Given the description of an element on the screen output the (x, y) to click on. 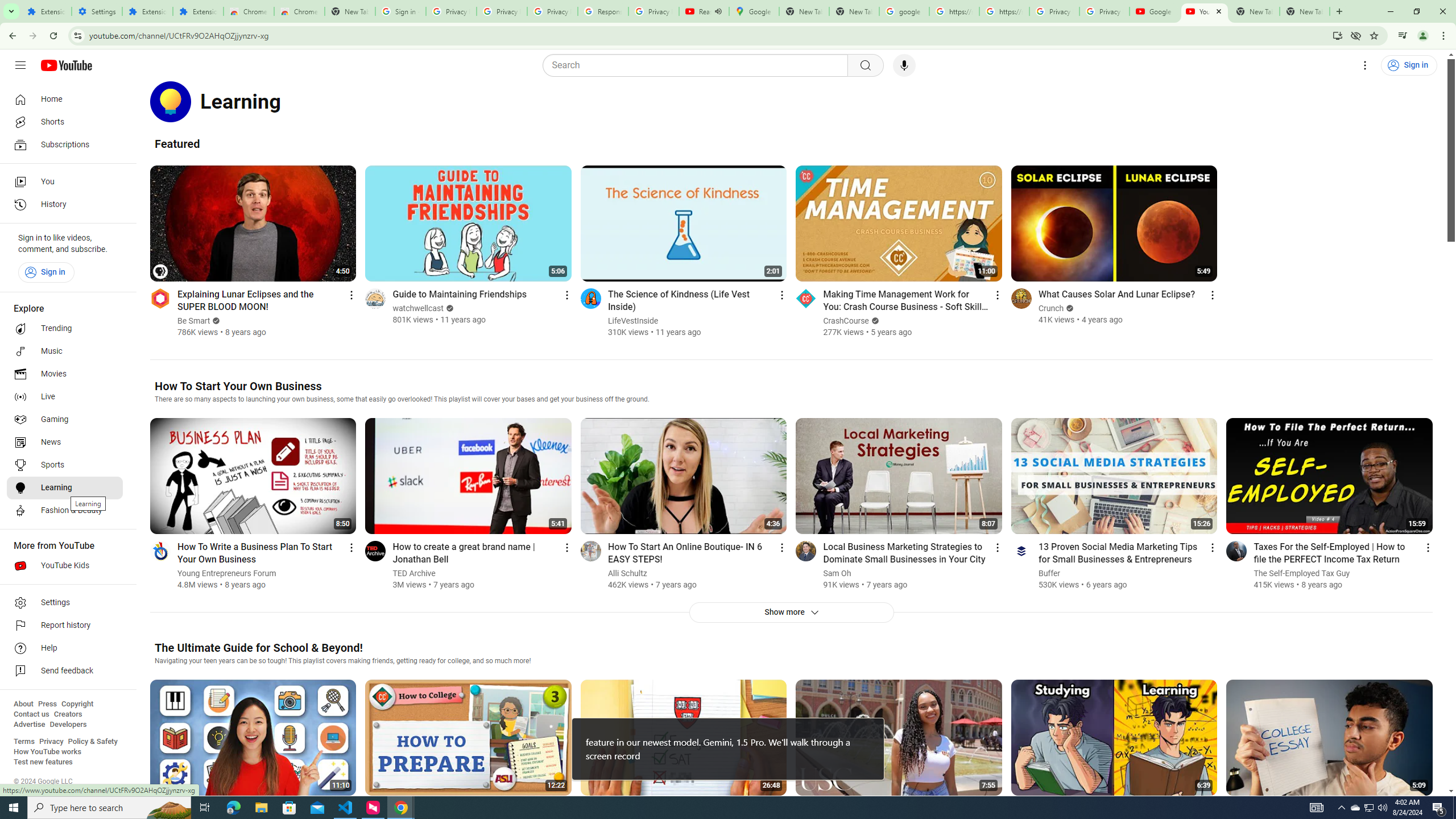
Terms (23, 741)
Developers (68, 724)
Be Smart (194, 320)
Buffer (1049, 573)
Privacy (51, 741)
Install YouTube (1336, 35)
Google - YouTube (1154, 11)
Control your music, videos, and more (1402, 35)
Music (64, 350)
